Given the description of an element on the screen output the (x, y) to click on. 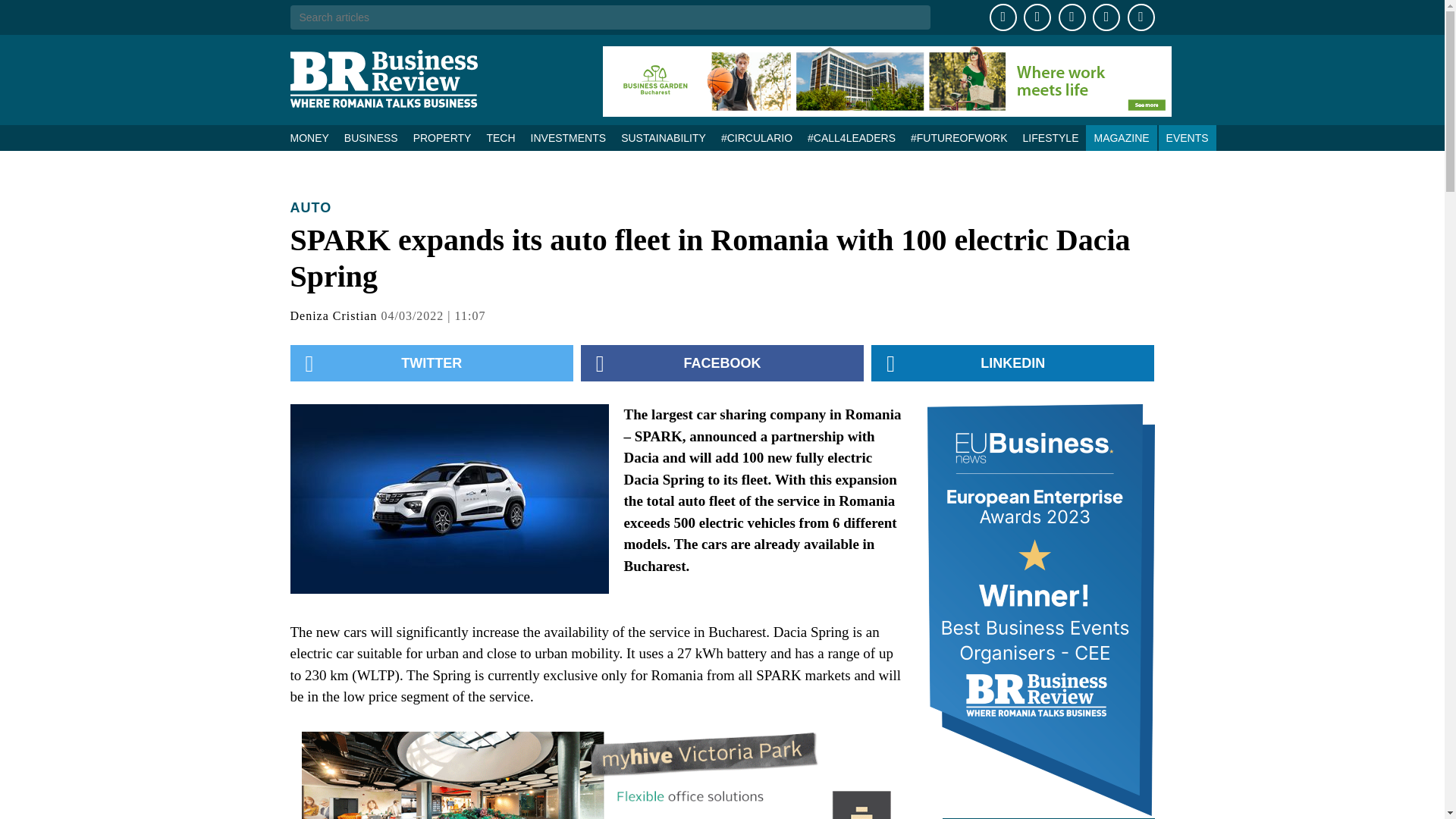
INVESTMENTS (568, 137)
TECH (500, 137)
Deniza Cristian (333, 315)
MAGAZINE (1121, 137)
AUTO (310, 207)
EVENTS (1186, 137)
FACEBOOK (721, 362)
LINKEDIN (1012, 362)
PROPERTY (442, 137)
MONEY (312, 137)
